Given the description of an element on the screen output the (x, y) to click on. 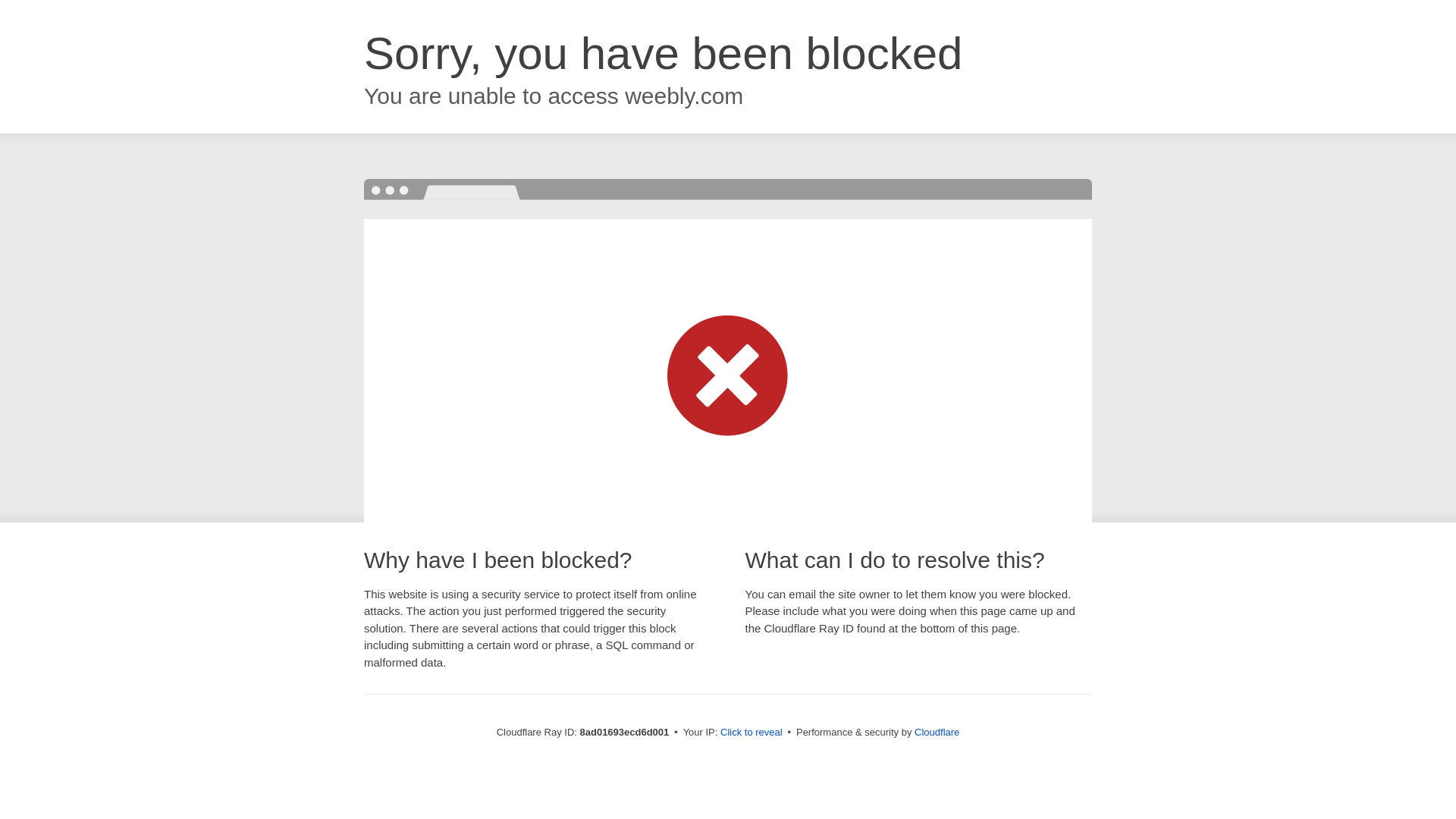
Click to reveal (751, 732)
Cloudflare (936, 731)
